Given the description of an element on the screen output the (x, y) to click on. 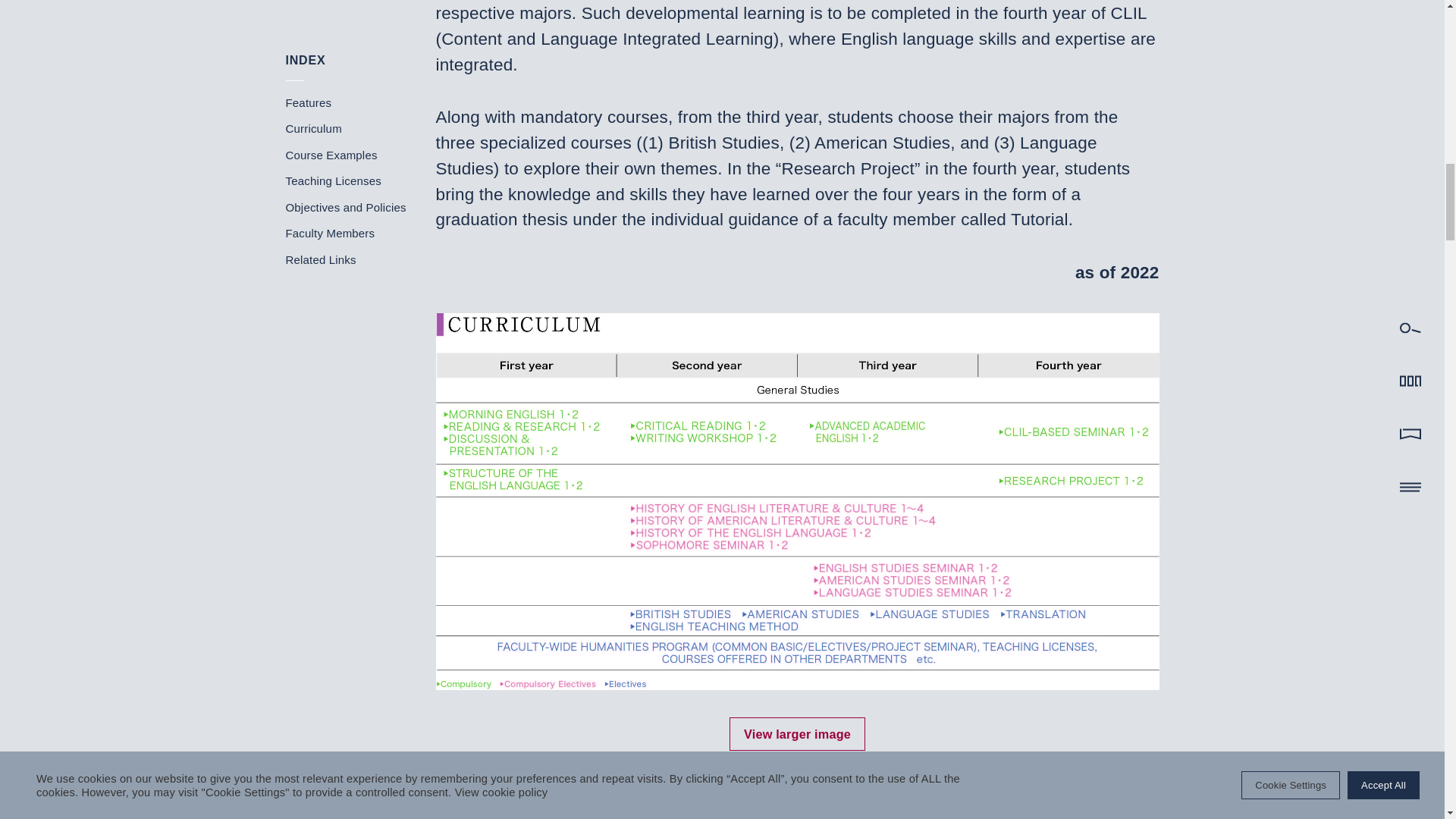
View larger image (796, 733)
syllabus (633, 790)
